Given the description of an element on the screen output the (x, y) to click on. 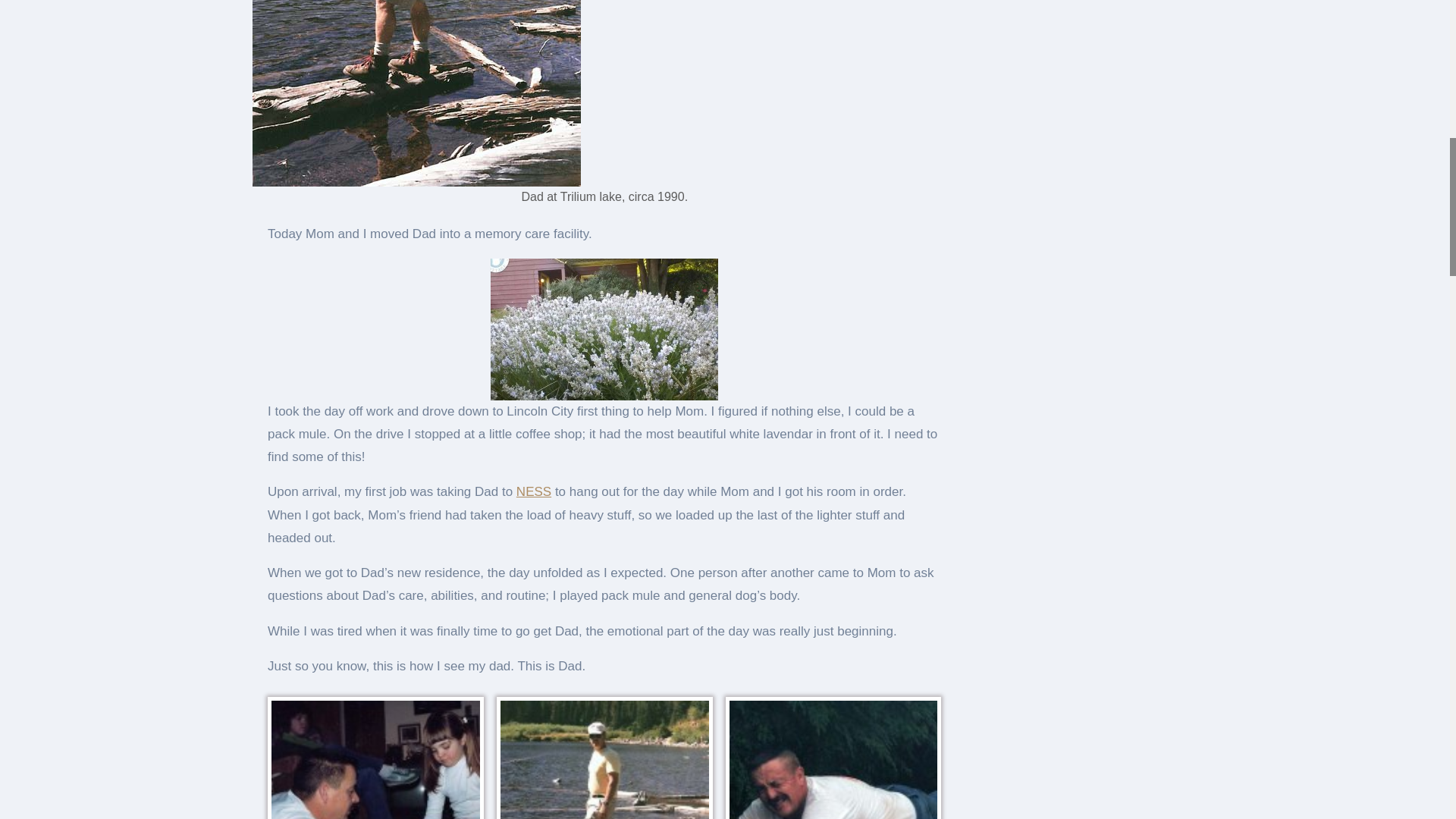
NESS (533, 491)
